Given the description of an element on the screen output the (x, y) to click on. 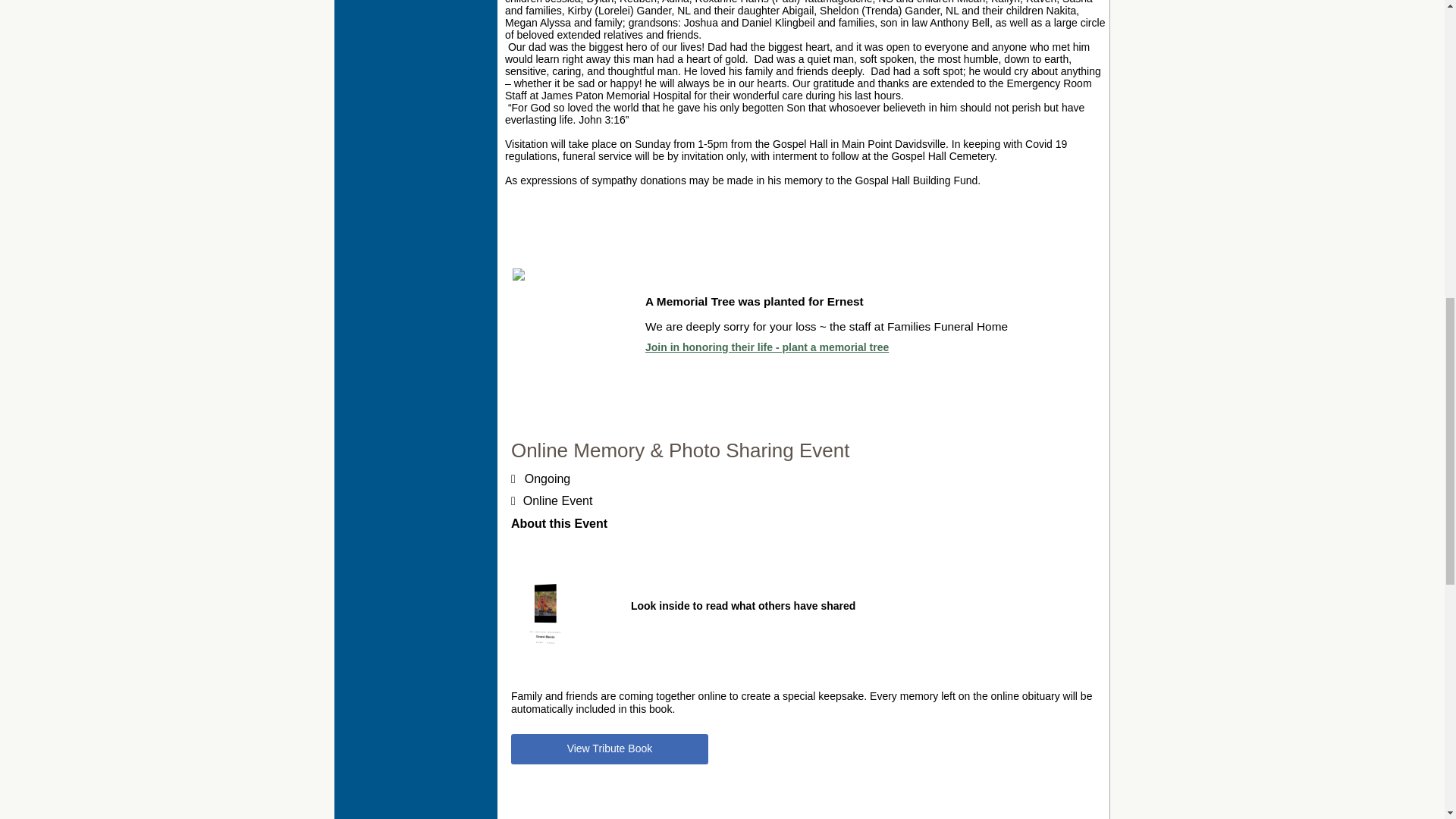
Twitter (415, 2)
Receive Notifications (442, 2)
Join in honoring their life - plant a memorial tree (766, 346)
View Tribute Book (609, 748)
Facebook (387, 2)
